Given the description of an element on the screen output the (x, y) to click on. 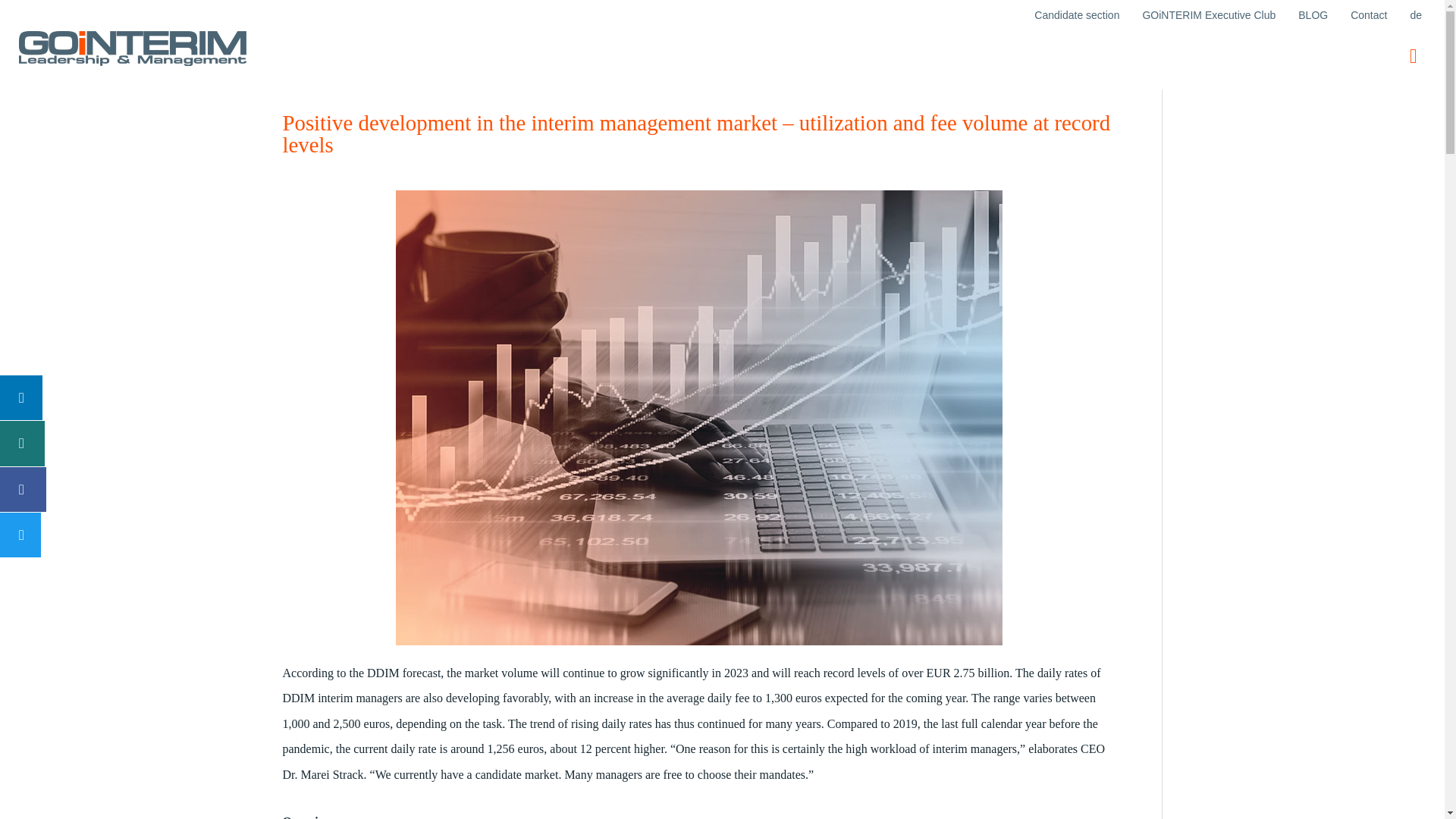
Candidate section (1077, 15)
GOiNTERIM Executive Club (1209, 15)
de (1414, 15)
Contact (1368, 15)
BLOG (1313, 15)
de (1414, 15)
